Given the description of an element on the screen output the (x, y) to click on. 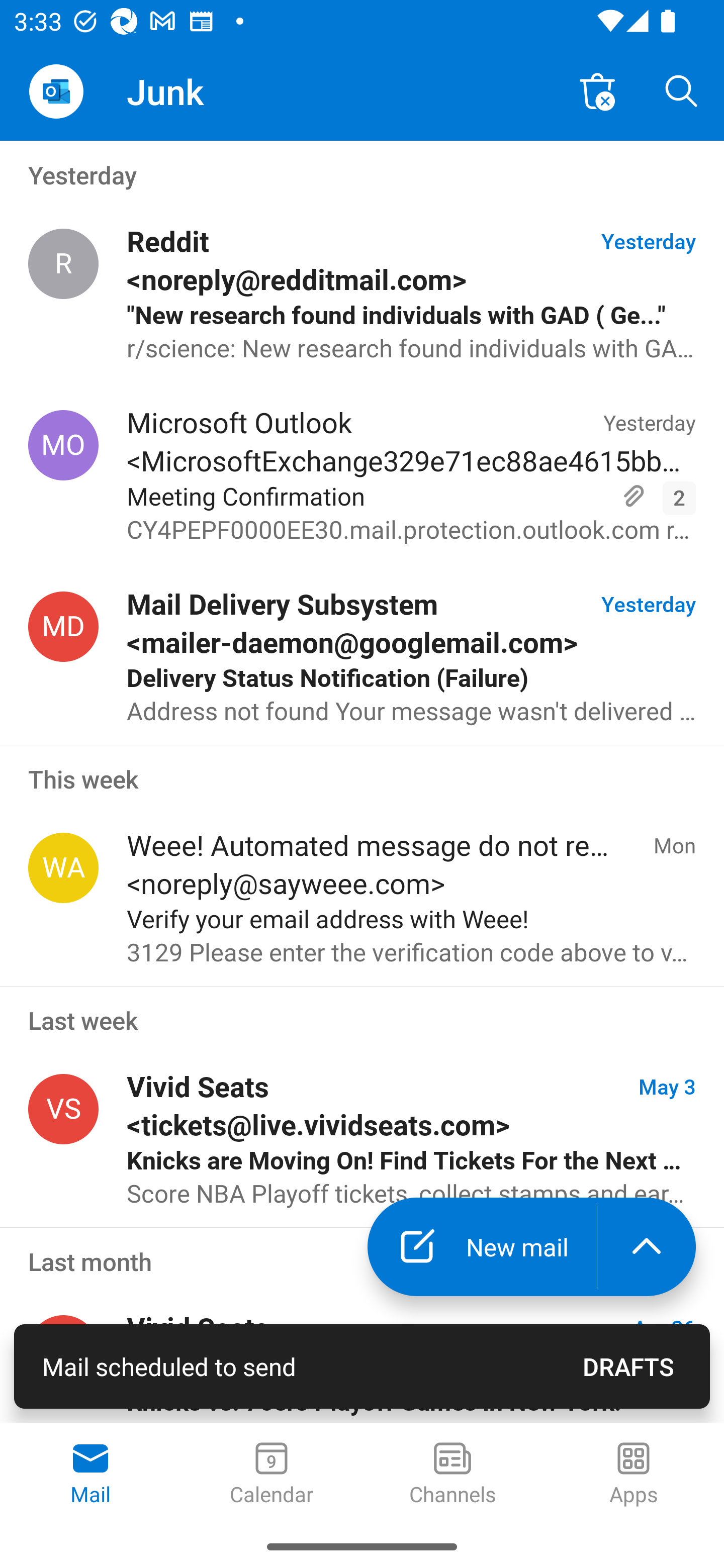
Empty Junk (597, 90)
Search, ,  (681, 90)
Open Navigation Drawer (55, 91)
Reddit, noreply@redditmail.com (63, 263)
Vivid Seats, tickets@live.vividseats.com (63, 1109)
New mail (481, 1246)
launch the extended action menu (646, 1246)
DRAFTS (628, 1366)
Calendar (271, 1474)
Channels (452, 1474)
Apps (633, 1474)
